Given the description of an element on the screen output the (x, y) to click on. 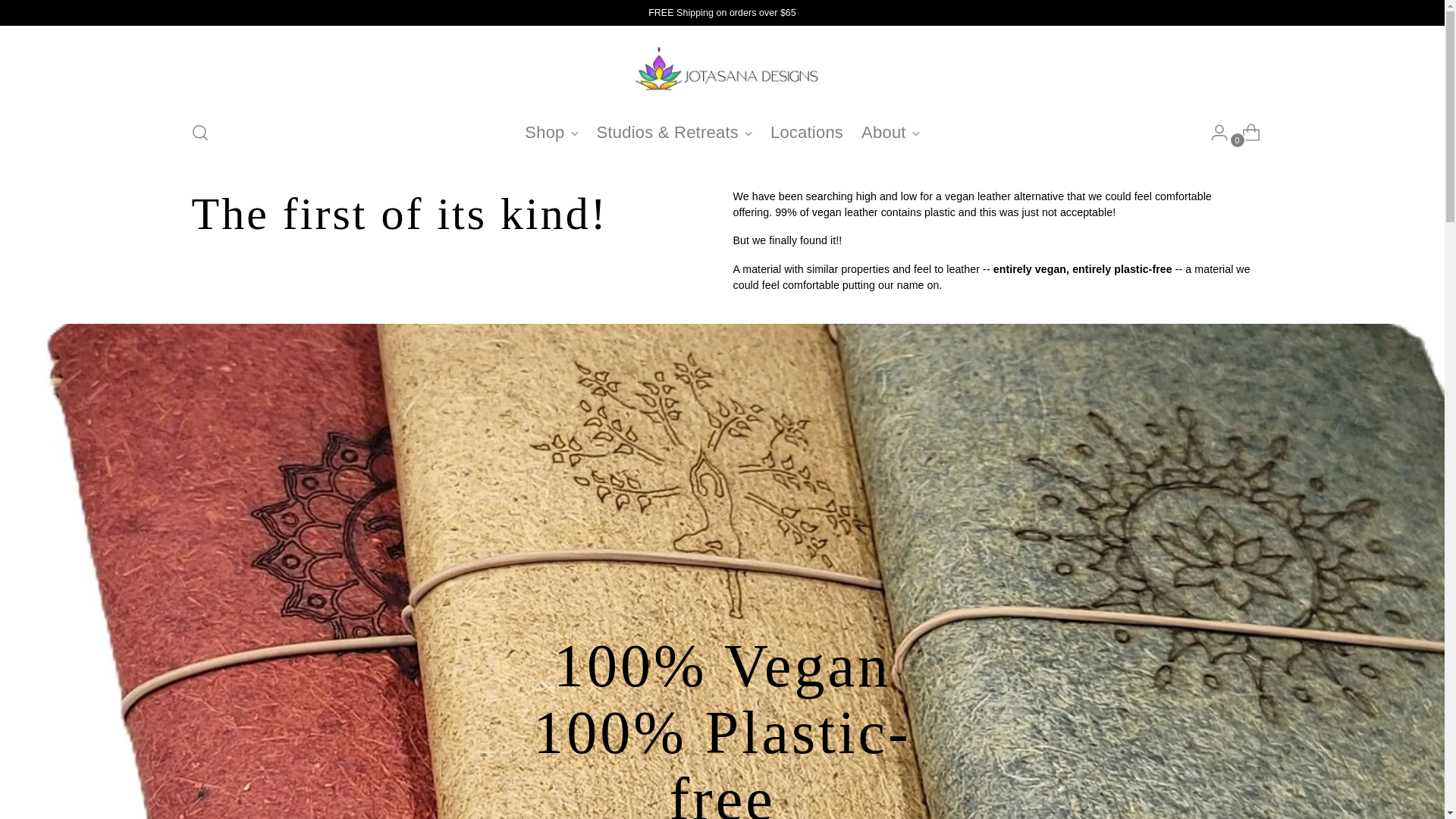
Shop (551, 132)
About (890, 132)
0 (1245, 132)
Locations (806, 132)
